Given the description of an element on the screen output the (x, y) to click on. 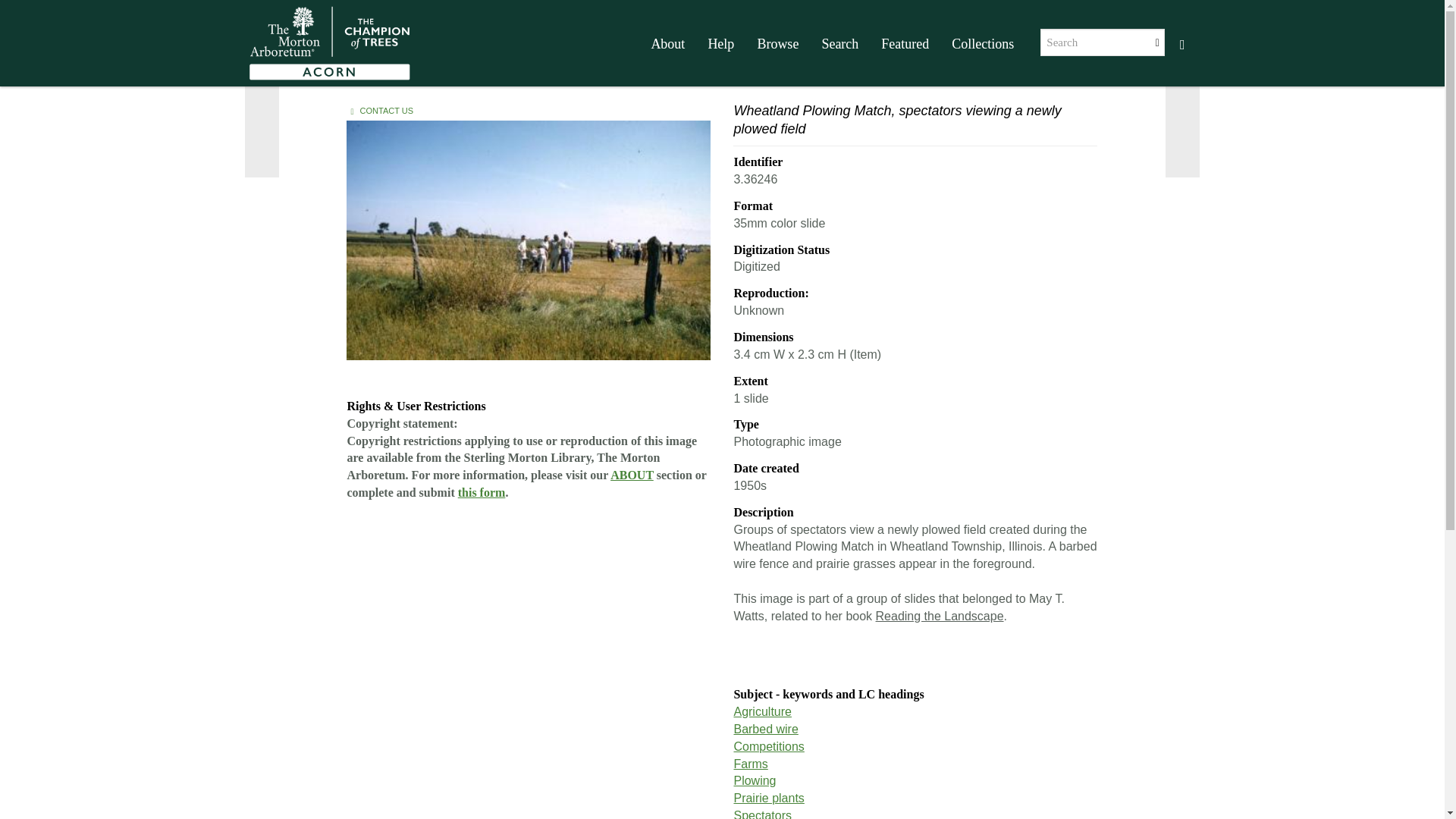
Help (720, 44)
Farms (750, 763)
Browse (777, 44)
Search (839, 44)
Barbed wire (765, 728)
Featured (904, 44)
Competitions (768, 746)
CONTACT US (381, 110)
ABOUT (631, 474)
Collections (982, 44)
this form (481, 492)
About (667, 44)
Agriculture (761, 711)
